Given the description of an element on the screen output the (x, y) to click on. 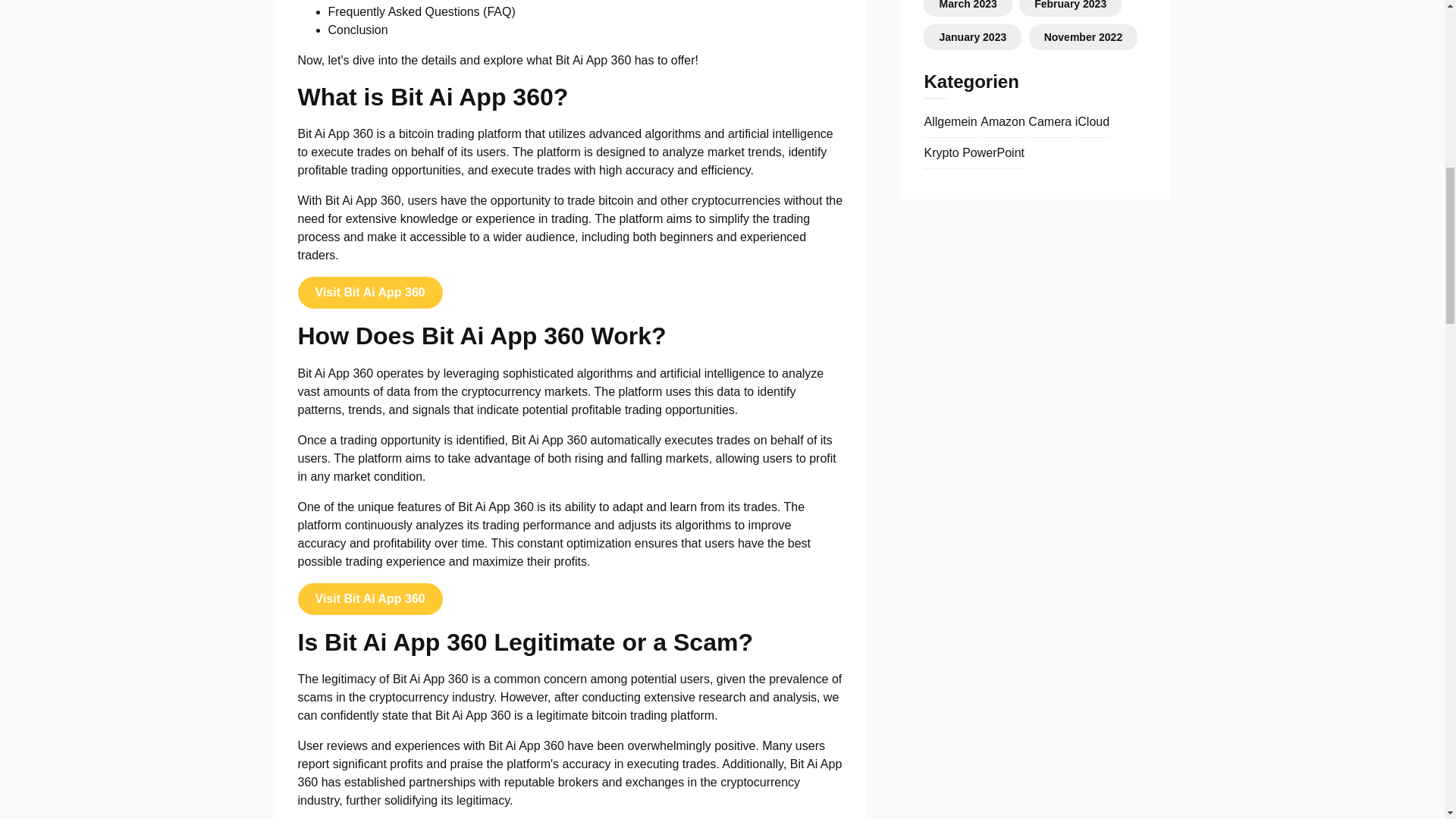
January 2023 (972, 37)
Allgemein (949, 121)
Amazon (1002, 121)
March 2023 (967, 4)
Visit Bit Ai App 360 (369, 599)
Visit Bit Ai App 360 (369, 598)
Visit Bit Ai App 360 (369, 292)
Visit Bit Ai App 360 (369, 291)
iCloud (1092, 121)
Camera (1049, 121)
November 2022 (1082, 37)
February 2023 (1069, 4)
